Given the description of an element on the screen output the (x, y) to click on. 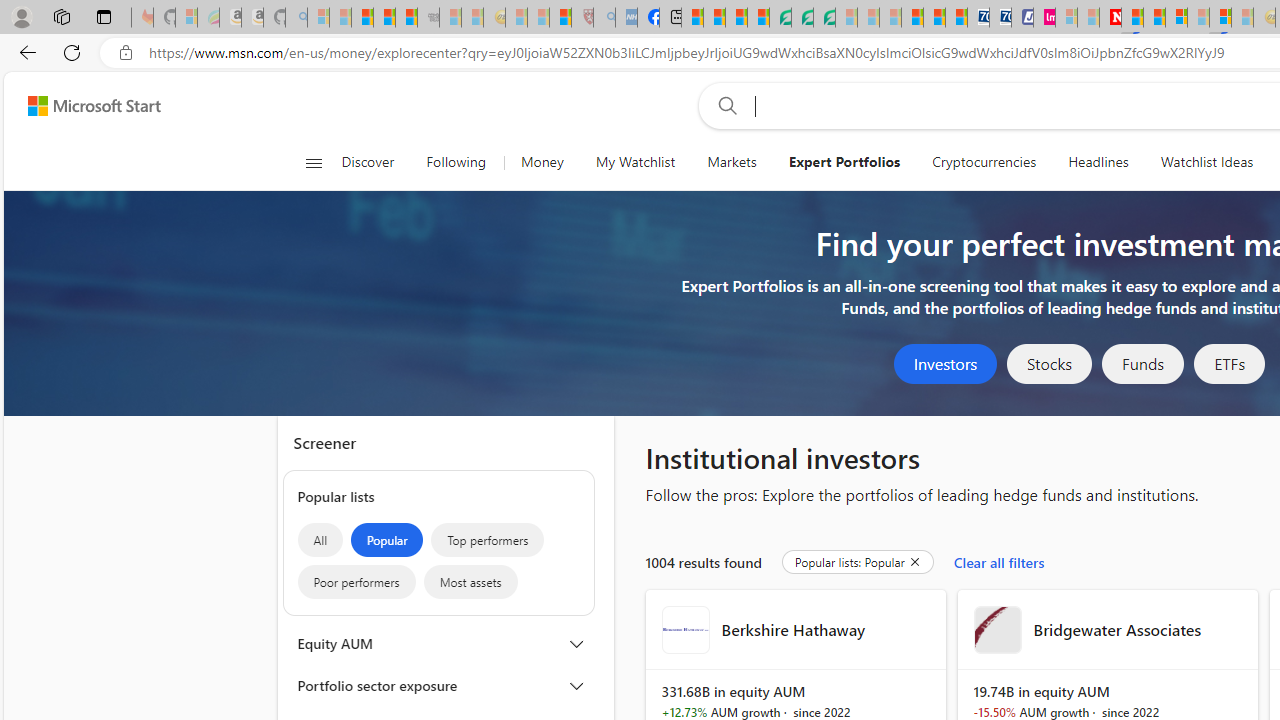
My Watchlist (635, 162)
LendingTree - Compare Lenders (780, 17)
Clear all filters (998, 561)
Headlines (1098, 162)
Expert Portfolios (843, 162)
